Given the description of an element on the screen output the (x, y) to click on. 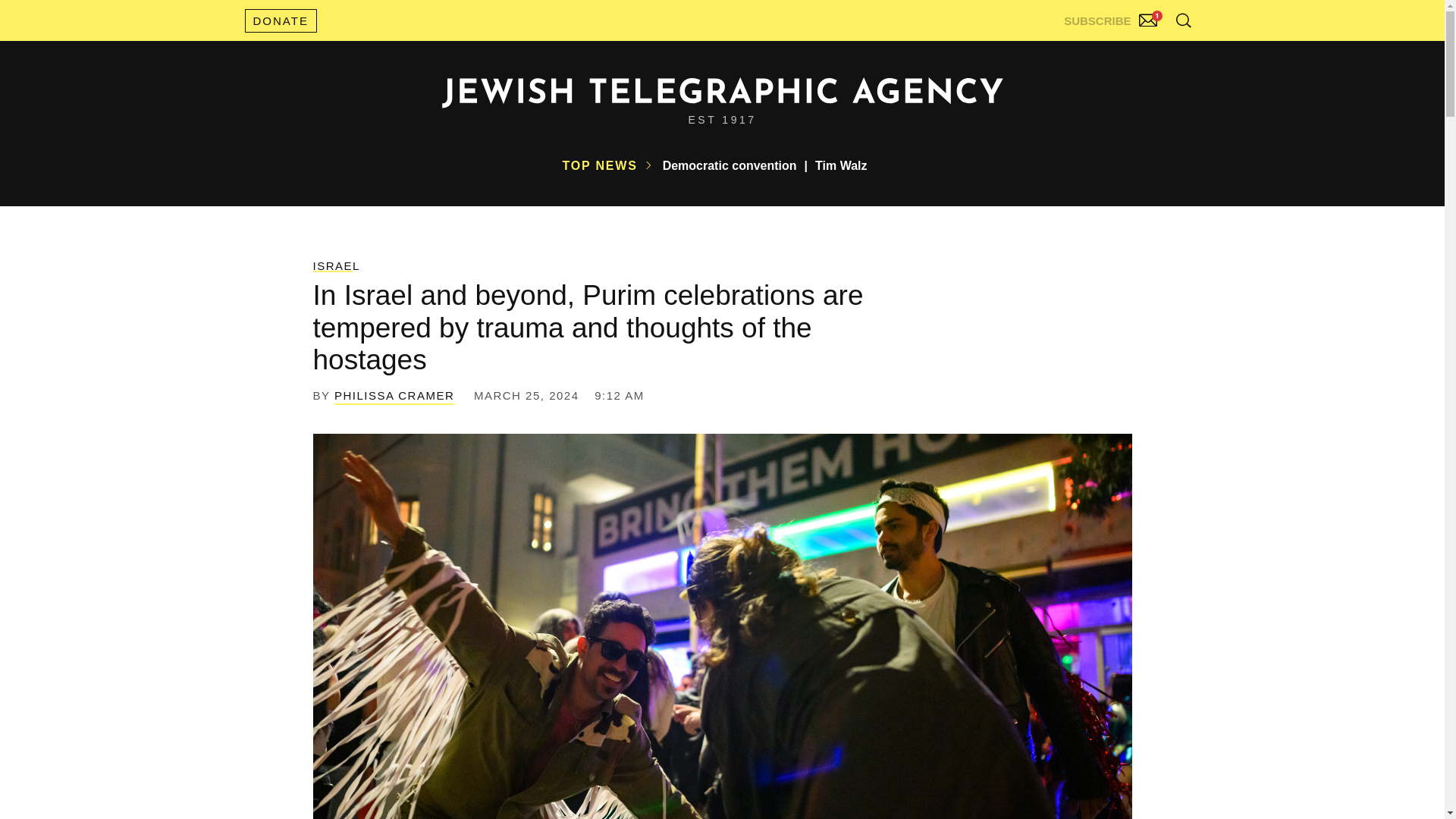
SEARCH TOGGLESEARCH TOGGLE (1182, 20)
DONATE (279, 20)
Search (1144, 53)
SUBSCRIBE (1112, 17)
